Given the description of an element on the screen output the (x, y) to click on. 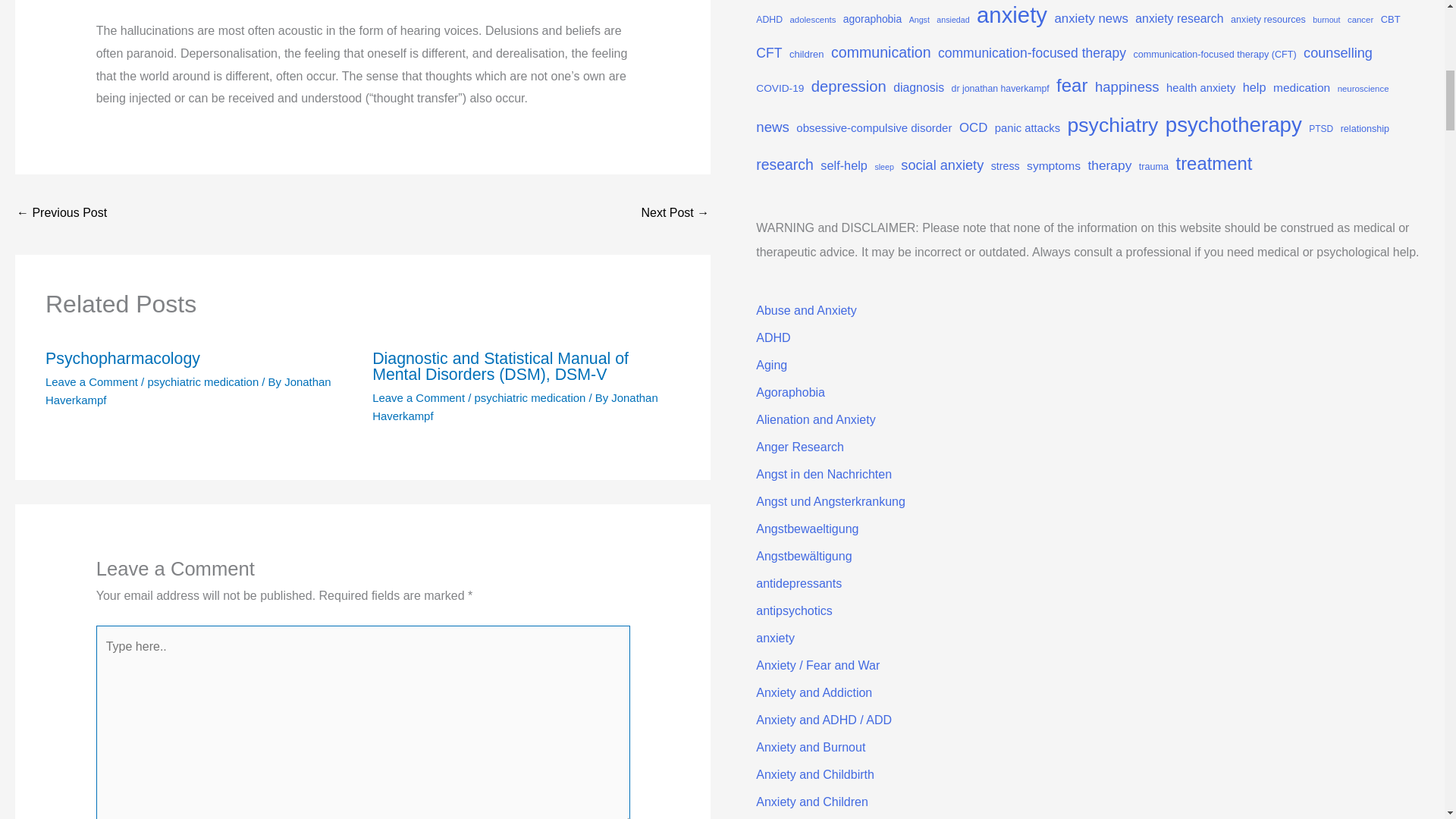
Psychopharmacology (122, 358)
Leave a Comment (91, 381)
Jonathan Haverkampf (515, 406)
Jonathan Haverkampf (188, 390)
psychiatric medication (203, 381)
View all posts by Jonathan Haverkampf (188, 390)
View all posts by Jonathan Haverkampf (515, 406)
psychiatric medication (530, 397)
Leave a Comment (418, 397)
The Importance of Rapport (61, 213)
